Given the description of an element on the screen output the (x, y) to click on. 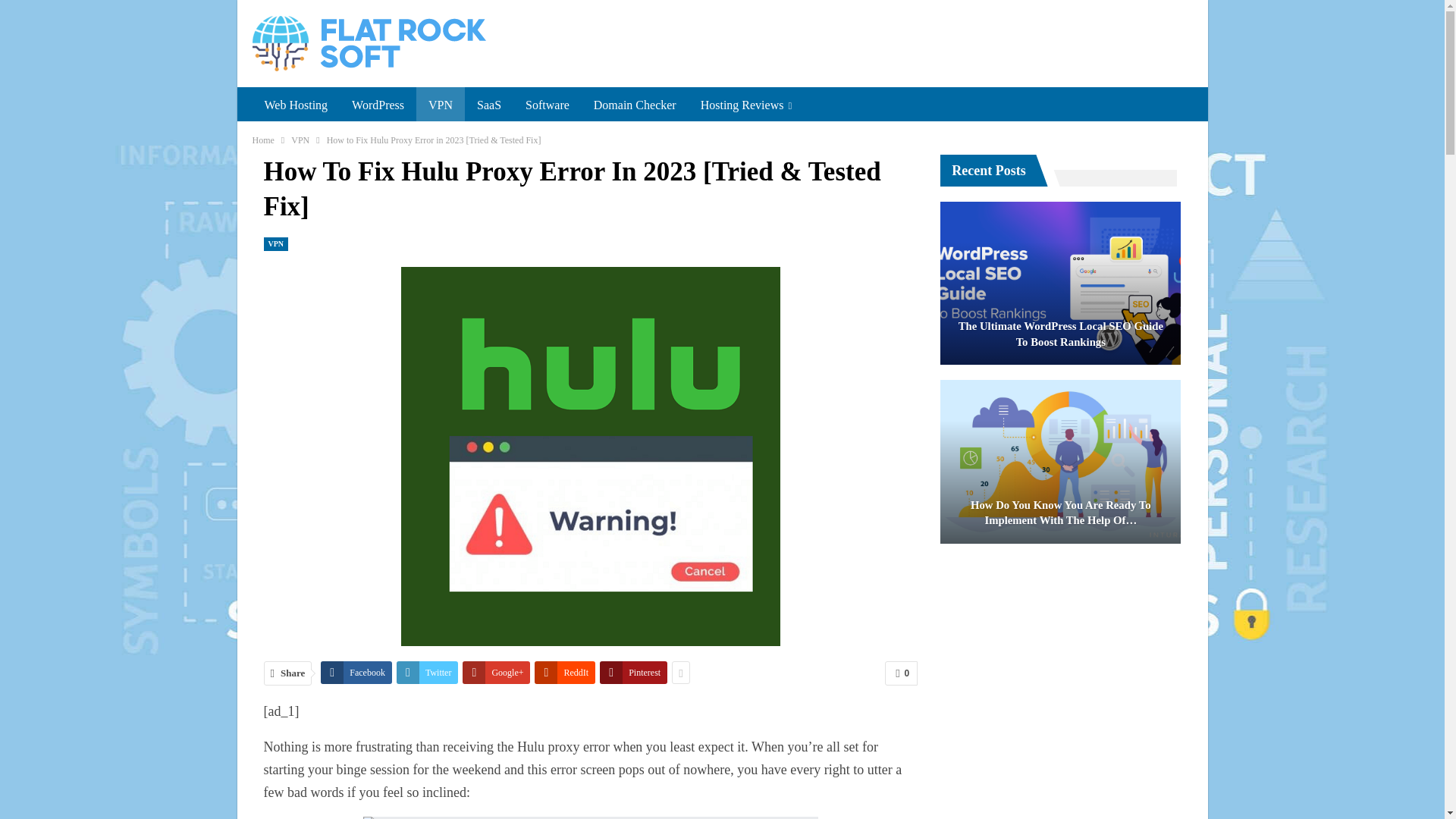
Home (262, 139)
Software (546, 104)
VPN (299, 139)
Domain Checker (634, 104)
Pinterest (632, 671)
Facebook (355, 671)
WordPress (377, 104)
0 (901, 672)
SaaS (488, 104)
The Ultimate WordPress Local SEO Guide to Boost Rankings (1060, 283)
